Given the description of an element on the screen output the (x, y) to click on. 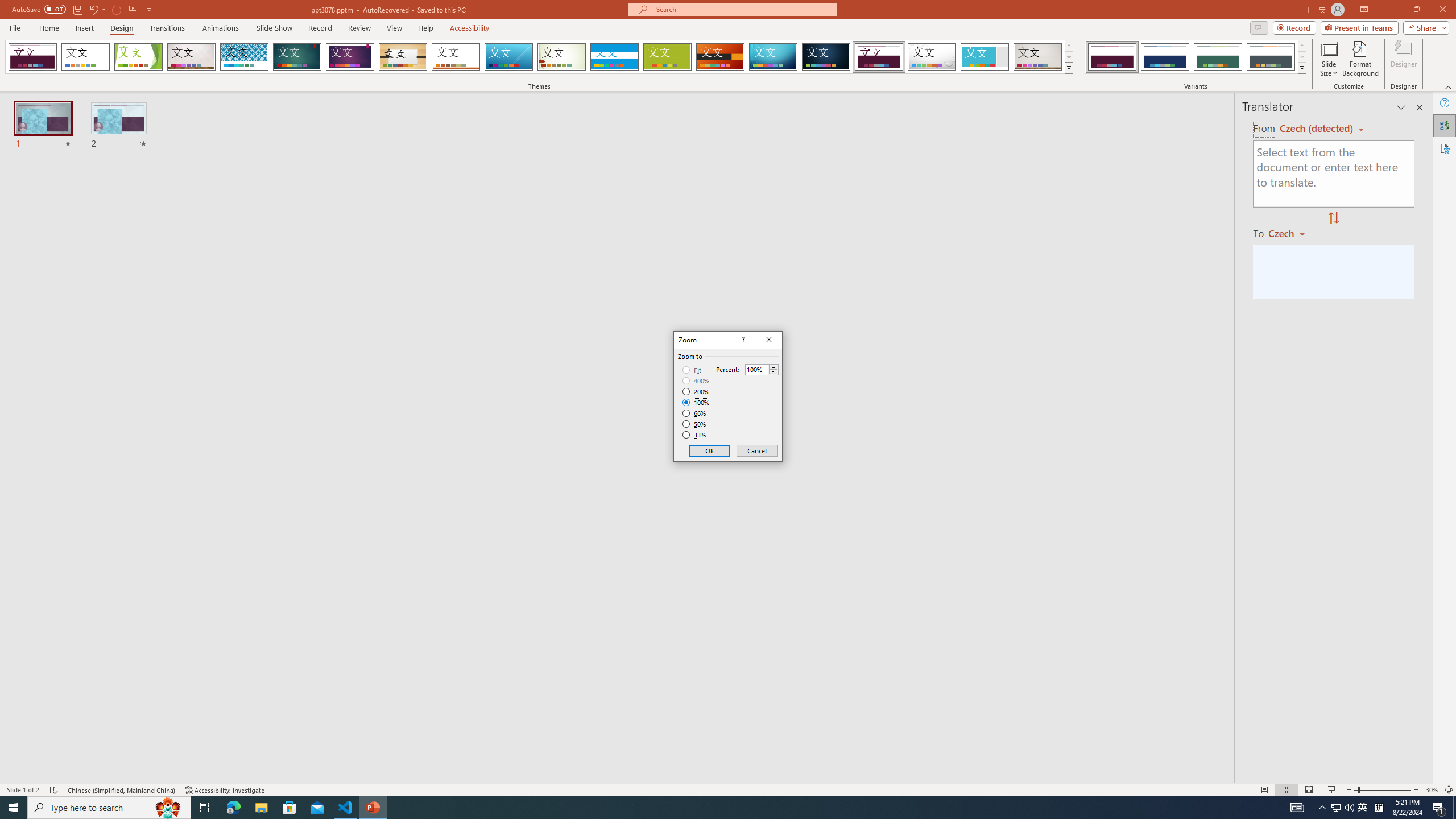
Present in Teams (1359, 27)
Save (77, 9)
Droplet (931, 56)
Help (1444, 102)
Share (1423, 27)
Home (48, 28)
Format Background (1360, 58)
Gallery (1037, 56)
Basis (667, 56)
Ribbon Display Options (1364, 9)
Type here to search (108, 807)
Swap "from" and "to" languages. (1333, 218)
Spell Check No Errors (54, 790)
Microsoft search (742, 9)
Show desktop (1454, 807)
